Given the description of an element on the screen output the (x, y) to click on. 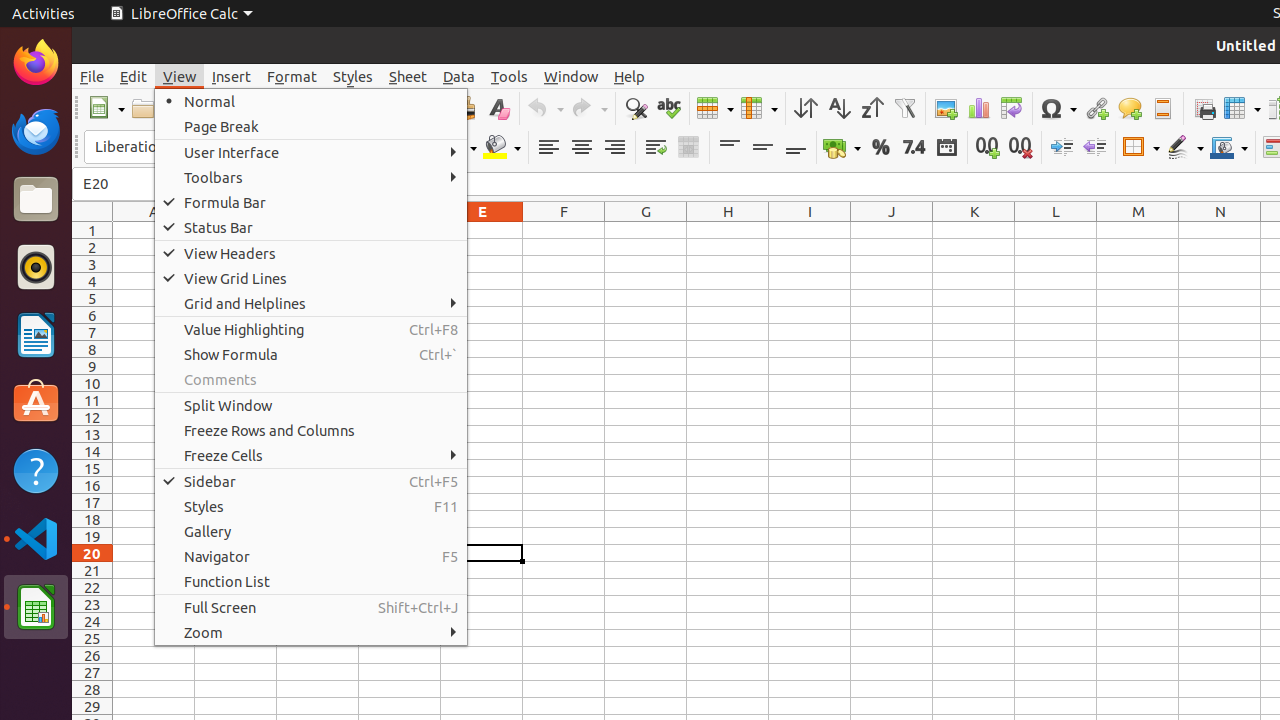
Align Top Element type: push-button (729, 147)
E1 Element type: table-cell (482, 230)
Chart Element type: push-button (978, 108)
Gallery Element type: menu-item (311, 531)
File Element type: menu (92, 76)
